Given the description of an element on the screen output the (x, y) to click on. 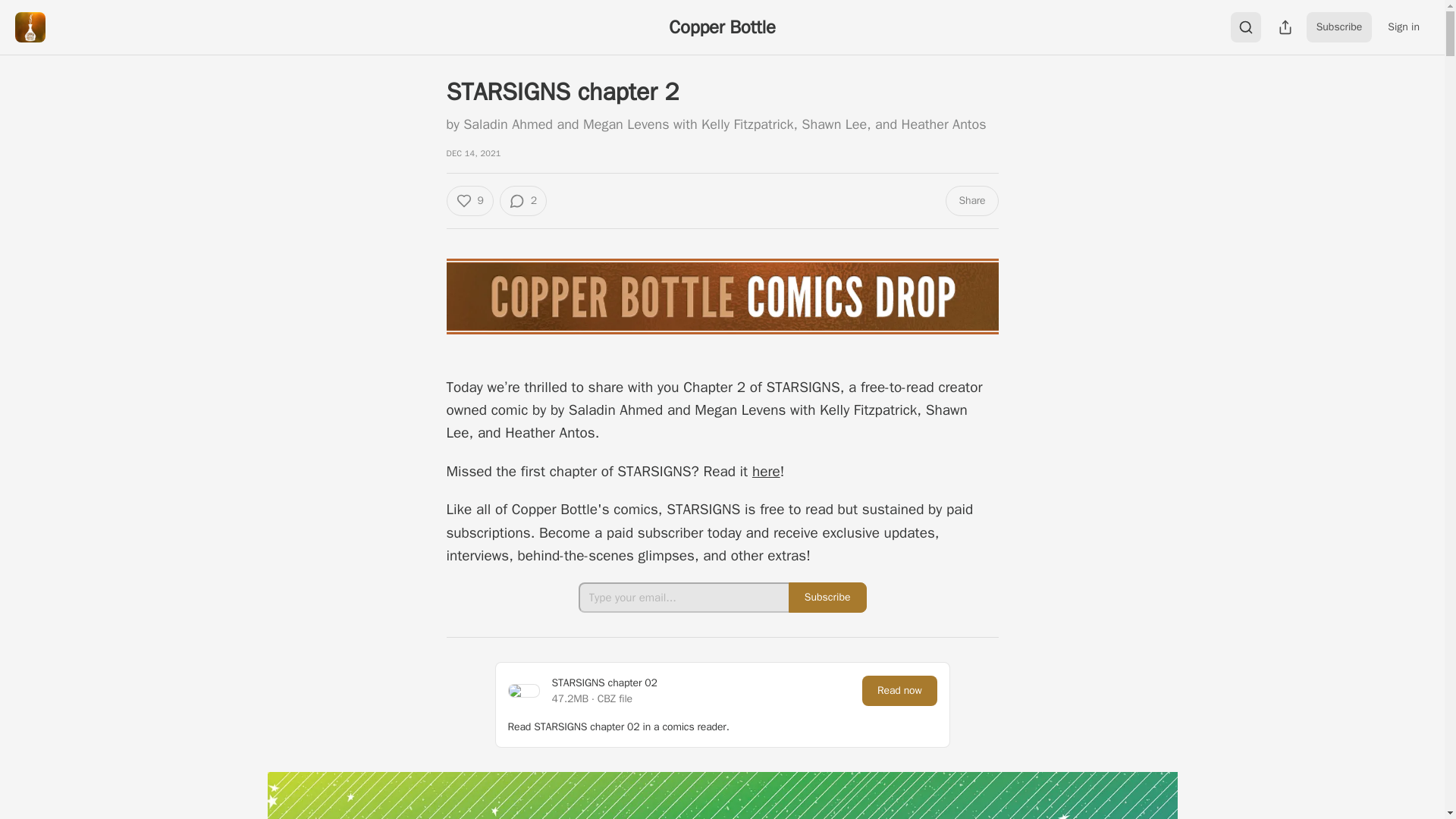
Subscribe (1339, 27)
Copper Bottle (721, 26)
Read now (898, 690)
9 (469, 200)
Sign in (1403, 27)
Share (970, 200)
2 (523, 200)
here (766, 471)
Subscribe (827, 597)
